Given the description of an element on the screen output the (x, y) to click on. 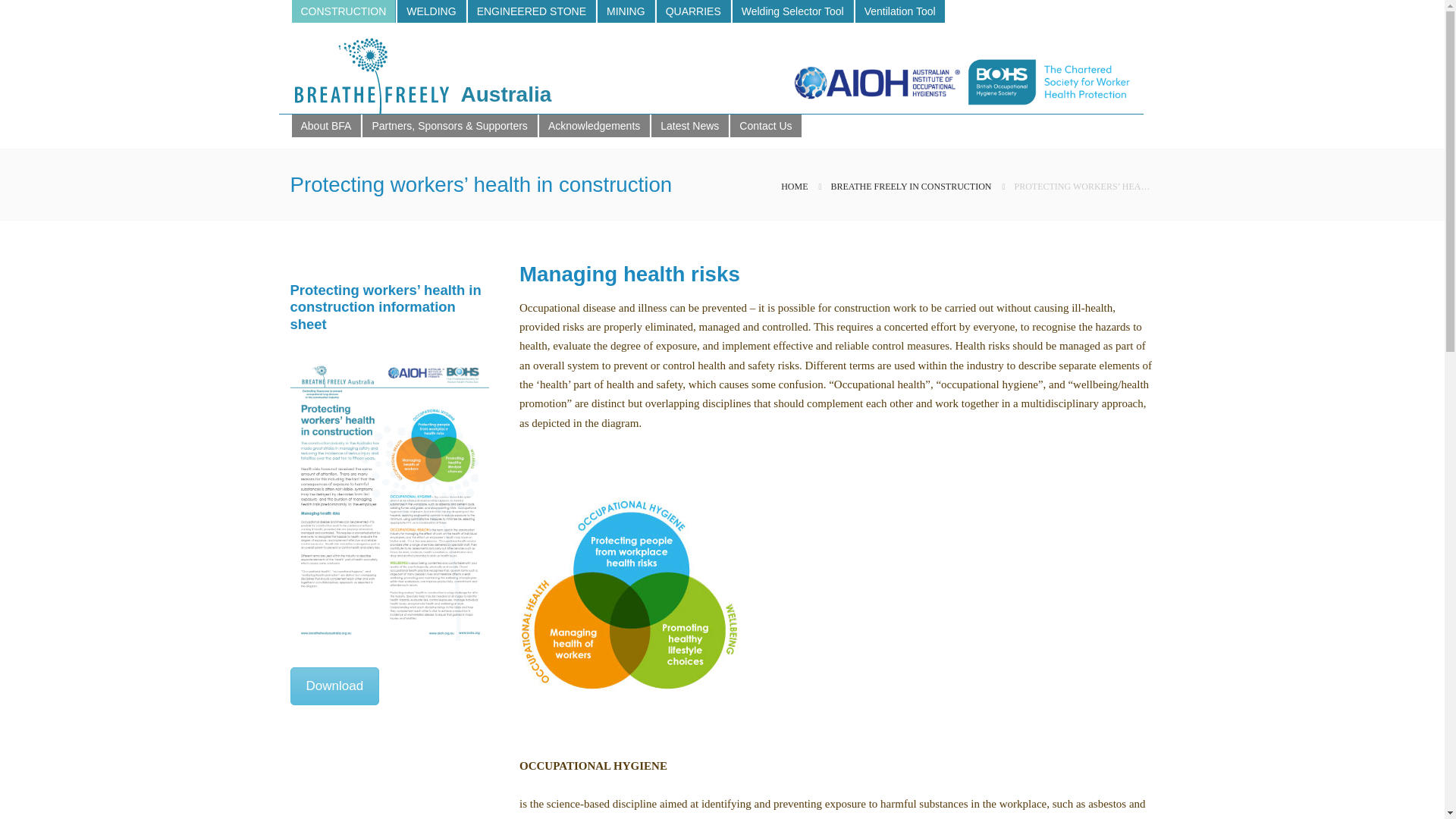
Contact Us (764, 125)
Latest News (688, 125)
Welding Selector Tool (791, 11)
Ventilation Tool (898, 11)
QUARRIES (692, 11)
WELDING (430, 11)
About BFA (324, 125)
Download (333, 686)
HOME (794, 185)
CONSTRUCTION (341, 11)
Acknowledgements (593, 125)
BREATHE FREELY IN CONSTRUCTION (910, 185)
ENGINEERED STONE (530, 11)
MINING (624, 11)
